Given the description of an element on the screen output the (x, y) to click on. 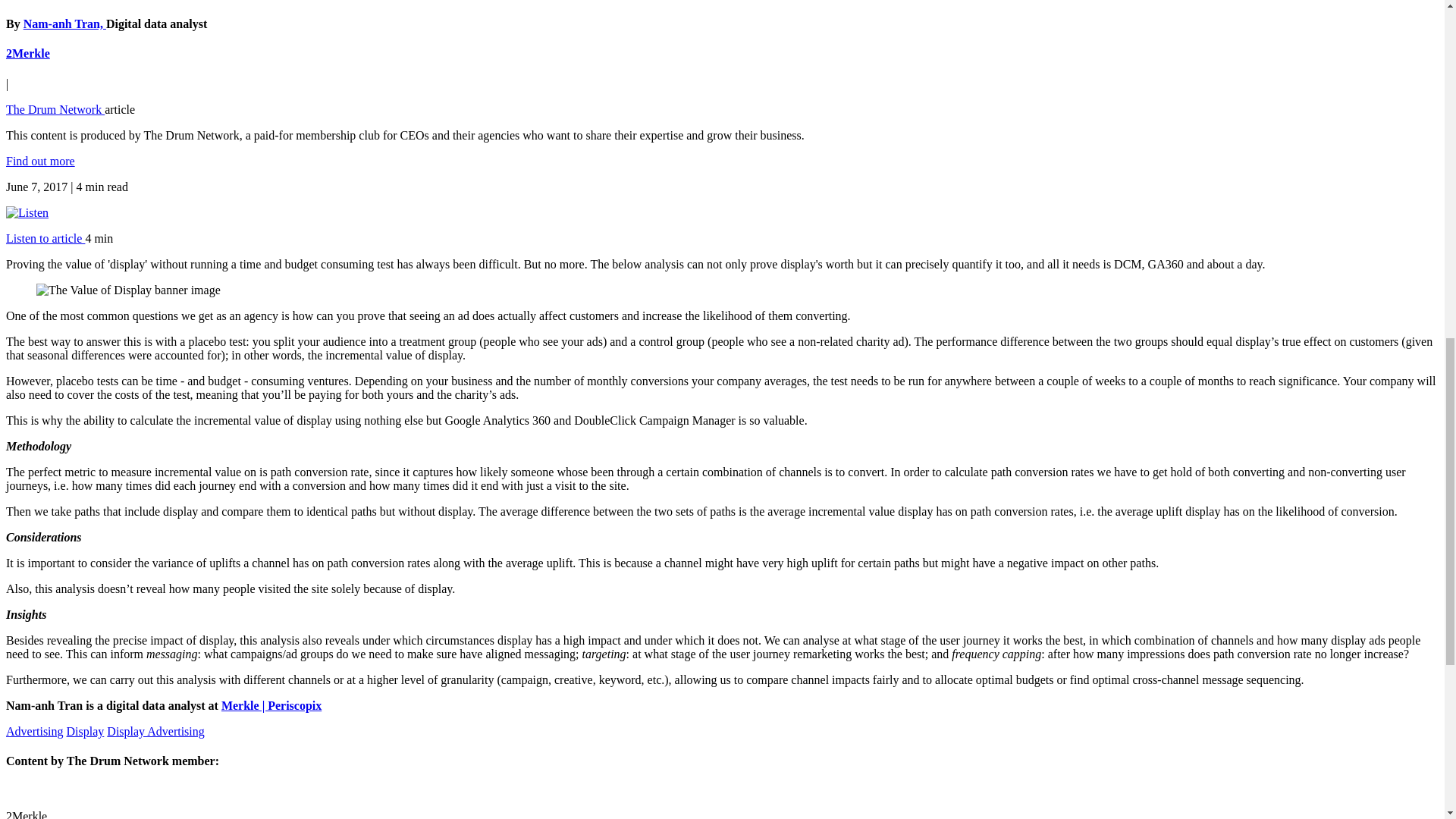
The Drum Network (54, 109)
The Value of Display banner image (128, 290)
Display (85, 730)
Find out more (40, 160)
Nam-anh Tran, (64, 23)
Advertising (34, 730)
Listen to article (44, 237)
Display Advertising (154, 730)
2Merkle (27, 52)
